Given the description of an element on the screen output the (x, y) to click on. 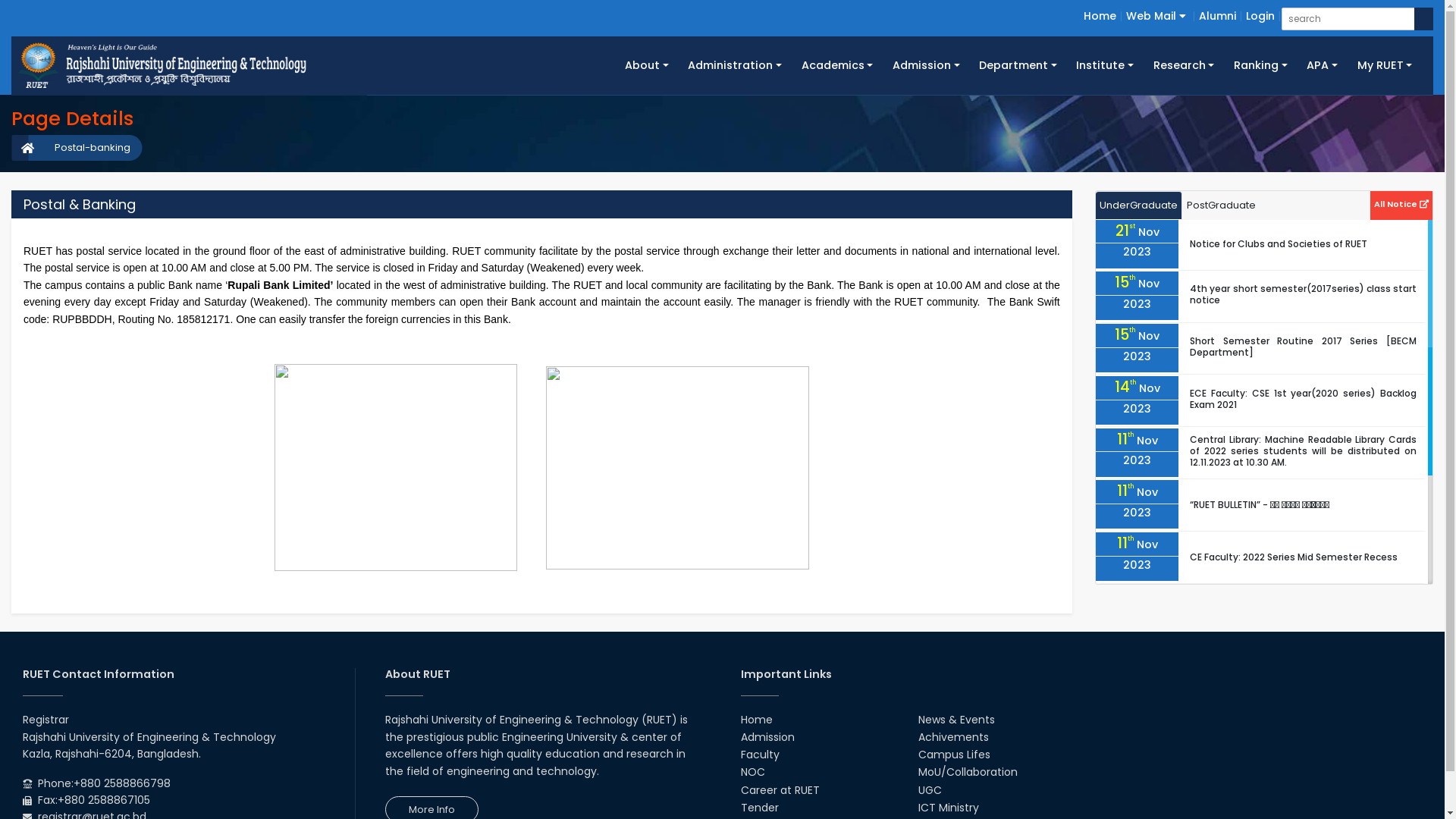
News & Events Element type: text (956, 719)
Campus Lifes Element type: text (954, 754)
APA Element type: text (1321, 65)
Academics Element type: text (836, 65)
PostGraduate Element type: text (1221, 205)
Administration Element type: text (734, 65)
Postal-banking Element type: text (84, 147)
Home Element type: text (755, 719)
NOC Element type: text (752, 771)
Faculty Element type: text (759, 754)
Admission Element type: text (766, 736)
All Notice Element type: text (1401, 203)
Admission Element type: text (925, 65)
Survey Class of 1st Year Students (2021 Series) Element type: text (1298, 660)
Web Mail Element type: text (1156, 15)
Alumni Element type: text (1217, 15)
MoU/Collaboration Element type: text (967, 771)
CE Faculty: 2022 Series Mid Semester Recess Element type: text (1293, 556)
About Element type: text (646, 65)
My RUET Element type: text (1384, 65)
Home Element type: text (1099, 15)
Research Element type: text (1183, 65)
Short Semester Routine 2017 Series [BECM Department] Element type: text (1302, 346)
Institute Element type: text (1104, 65)
UGC Element type: text (929, 789)
Notice for Clubs and Societies of RUET Element type: text (1278, 243)
Tender Element type: text (759, 807)
Ranking Element type: text (1259, 65)
ICT Ministry Element type: text (948, 807)
4th year short semester(2017series) class start notice Element type: text (1302, 293)
Login Element type: text (1259, 15)
Achivements Element type: text (953, 736)
Department Element type: text (1017, 65)
UnderGraduate Element type: text (1138, 205)
ECE Faculty: CSE 1st year(2020 series) Backlog Exam 2021 Element type: text (1302, 398)
Career at RUET Element type: text (779, 789)
